Given the description of an element on the screen output the (x, y) to click on. 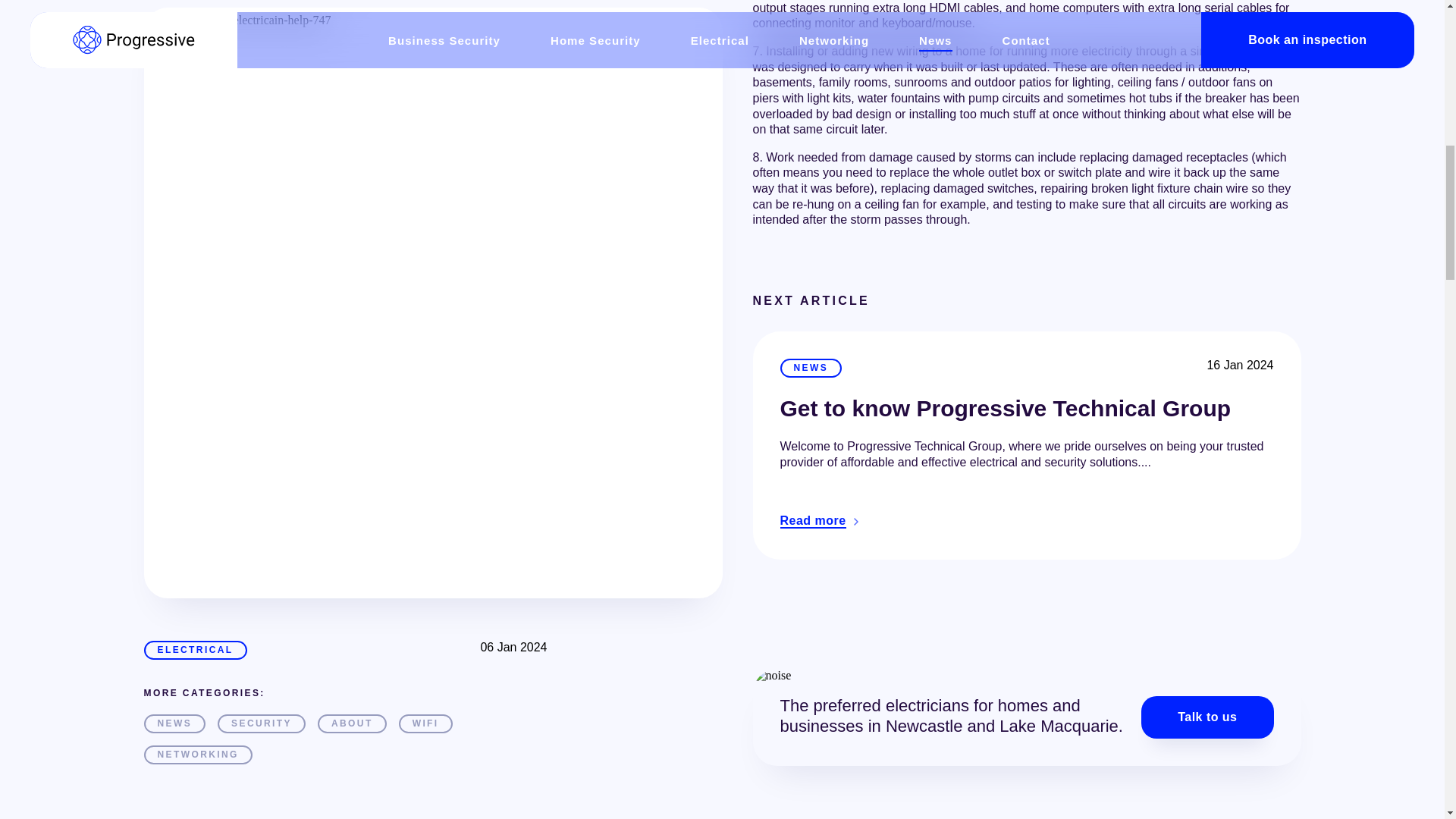
SECURITY (260, 314)
Talk to us (1206, 717)
WIFI (425, 314)
ABOUT (352, 314)
NEWS (175, 314)
NETWORKING (197, 345)
